Given the description of an element on the screen output the (x, y) to click on. 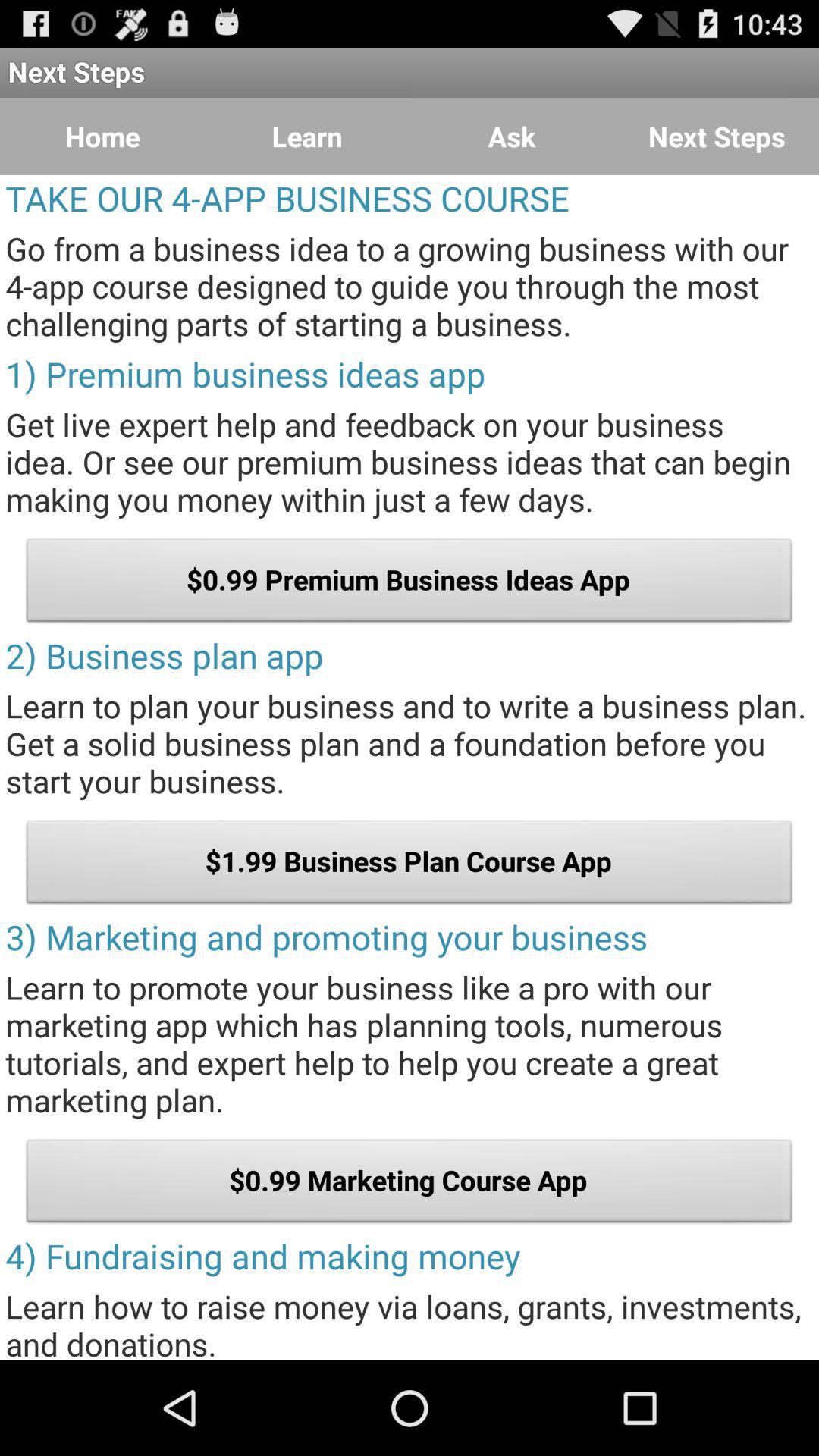
turn on the home icon (102, 136)
